Given the description of an element on the screen output the (x, y) to click on. 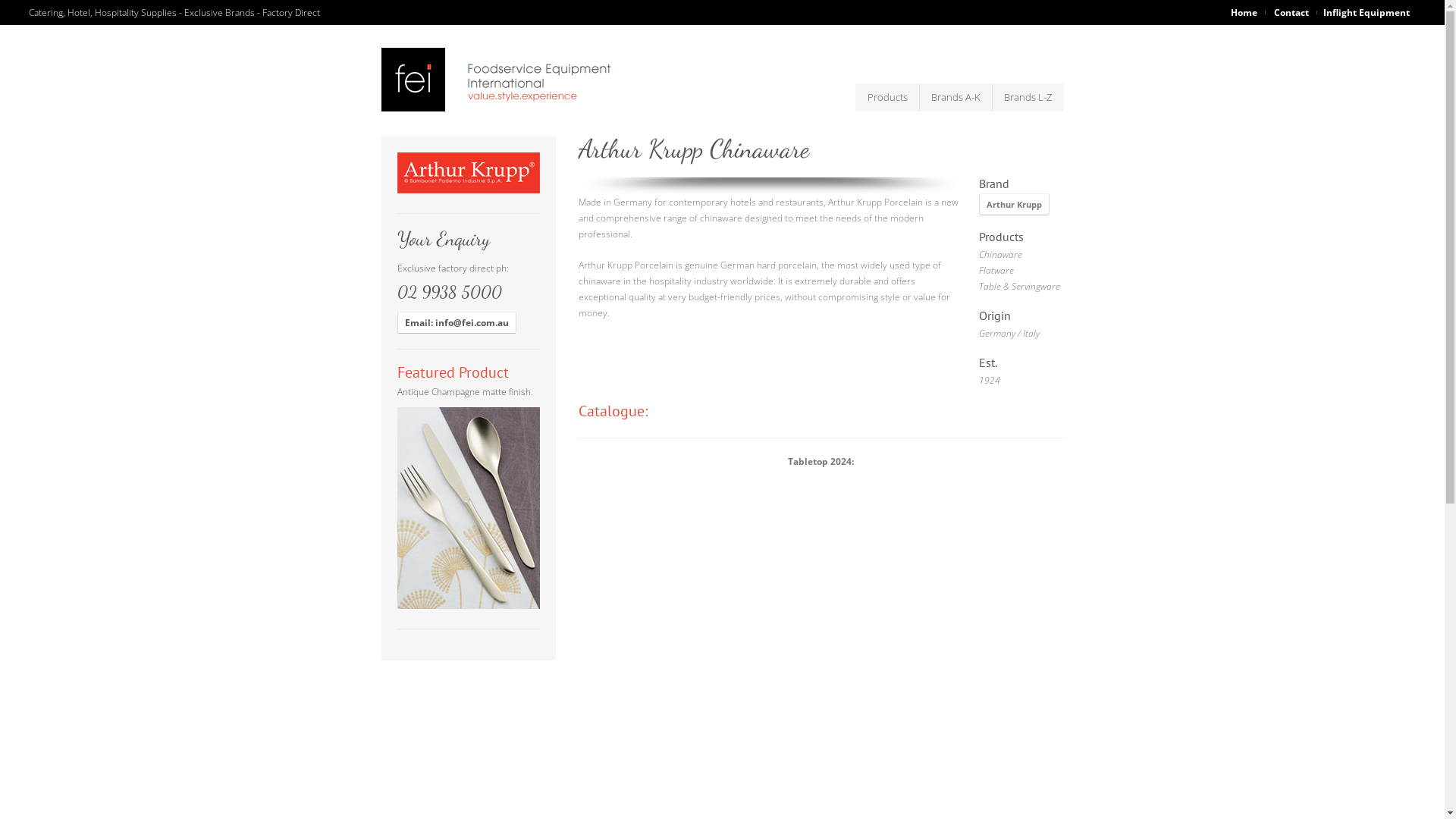
Brands A-K Element type: text (955, 97)
Arthur-Krupp-Chinaware-Cutlery-Holloware-Italy-Germany Element type: hover (468, 172)
 Contact  Element type: text (1291, 12)
Brands L-Z Element type: text (1026, 97)
Antique Champagne matte finish. Element type: text (468, 497)
Inflight Equipment Element type: text (1366, 12)
Products Element type: text (886, 97)
Home  Element type: text (1247, 12)
Arthur Krupp Element type: text (1013, 204)
Email: info@fei.com.au Element type: text (456, 322)
